Given the description of an element on the screen output the (x, y) to click on. 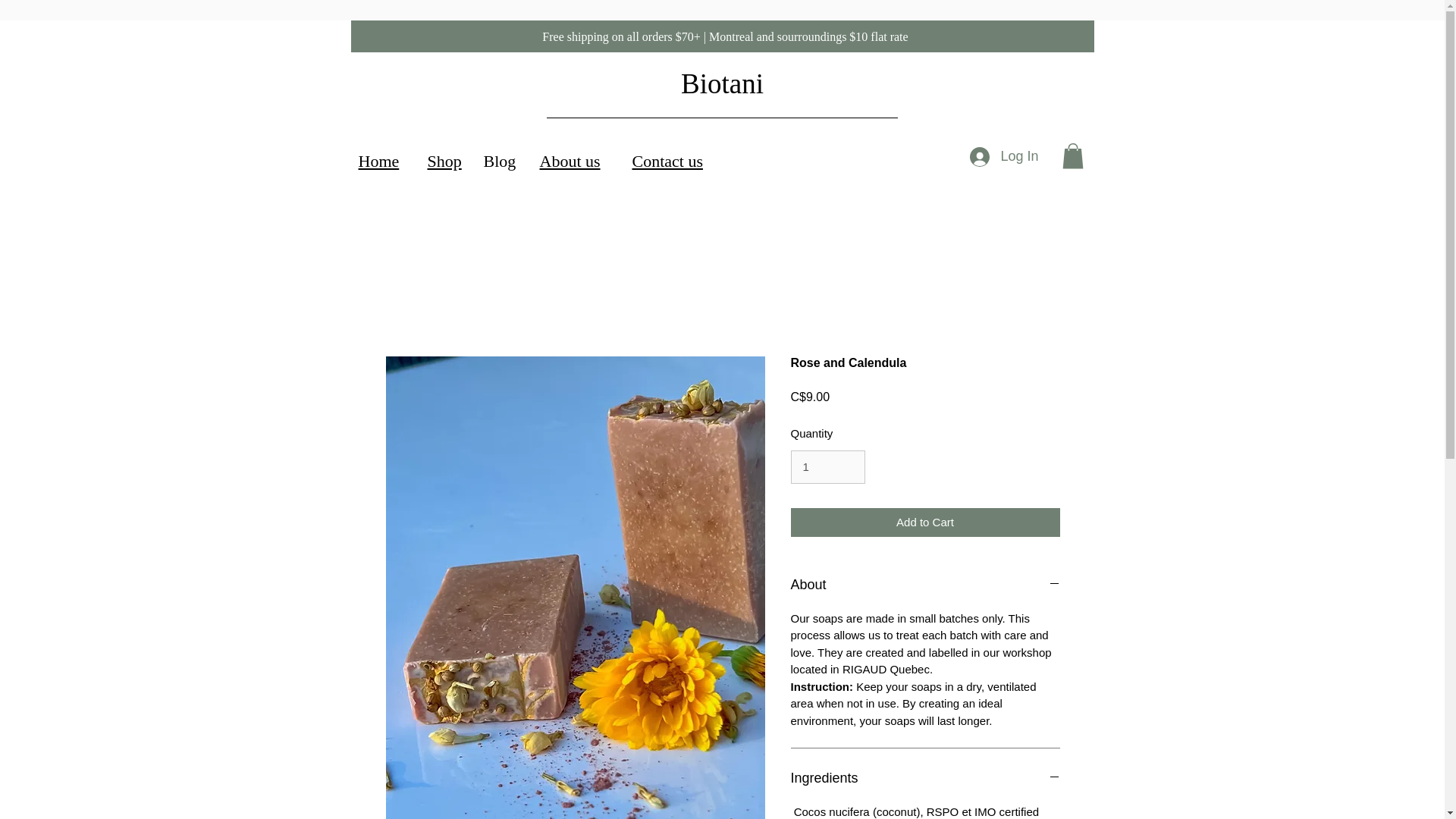
Contact us (667, 160)
1 (827, 467)
About us (569, 160)
Shop (444, 160)
About (924, 585)
Log In (1003, 156)
Add to Cart (924, 522)
Ingredients (924, 778)
Home (378, 160)
